Given the description of an element on the screen output the (x, y) to click on. 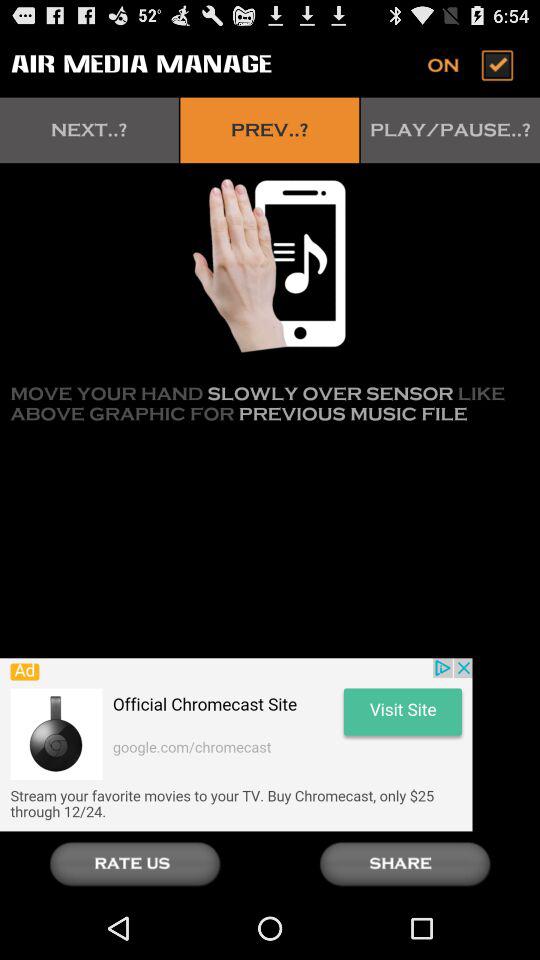
on/ off (472, 64)
